Given the description of an element on the screen output the (x, y) to click on. 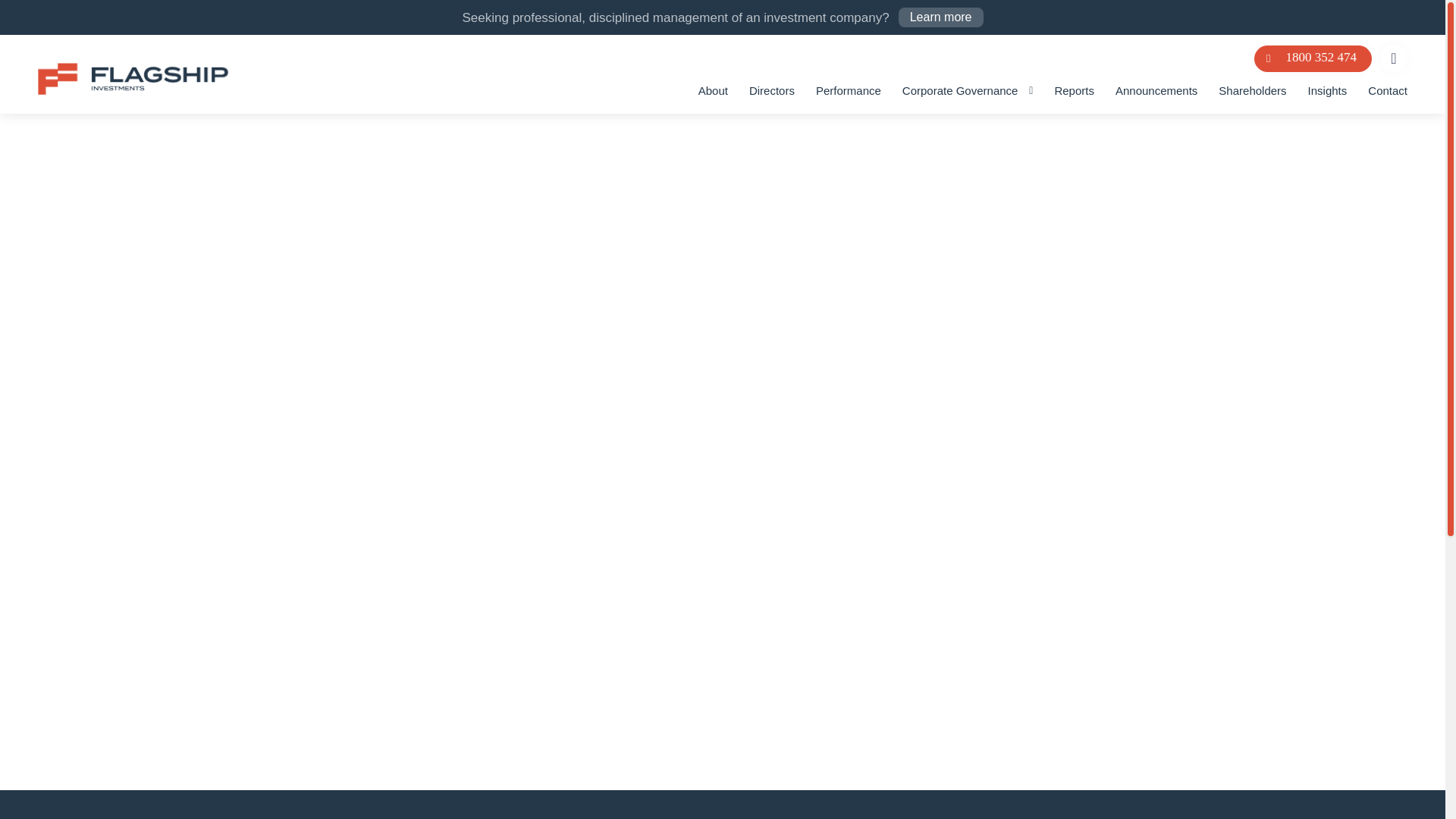
Performance (847, 90)
Flagship Investments (132, 91)
Announcements (1155, 90)
1800 352 474 (1312, 58)
Corporate Governance (959, 90)
Shareholders (1251, 90)
Contact (1387, 90)
About (713, 90)
Reports (1074, 90)
Insights (1327, 90)
